Given the description of an element on the screen output the (x, y) to click on. 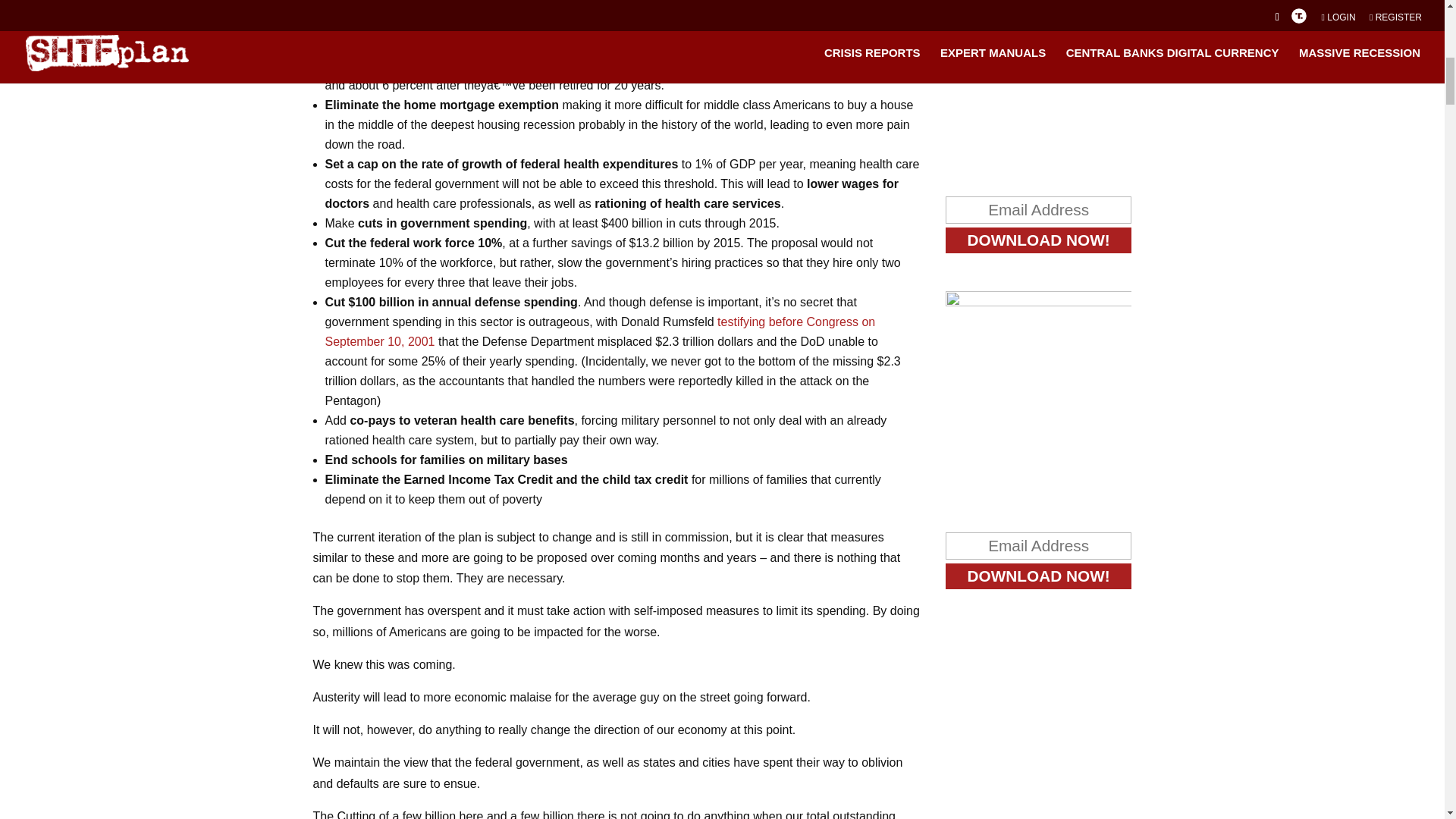
testifying before Congress on September 10, 2001 (599, 331)
Download Now! (1038, 240)
Download Now! (1038, 575)
